Given the description of an element on the screen output the (x, y) to click on. 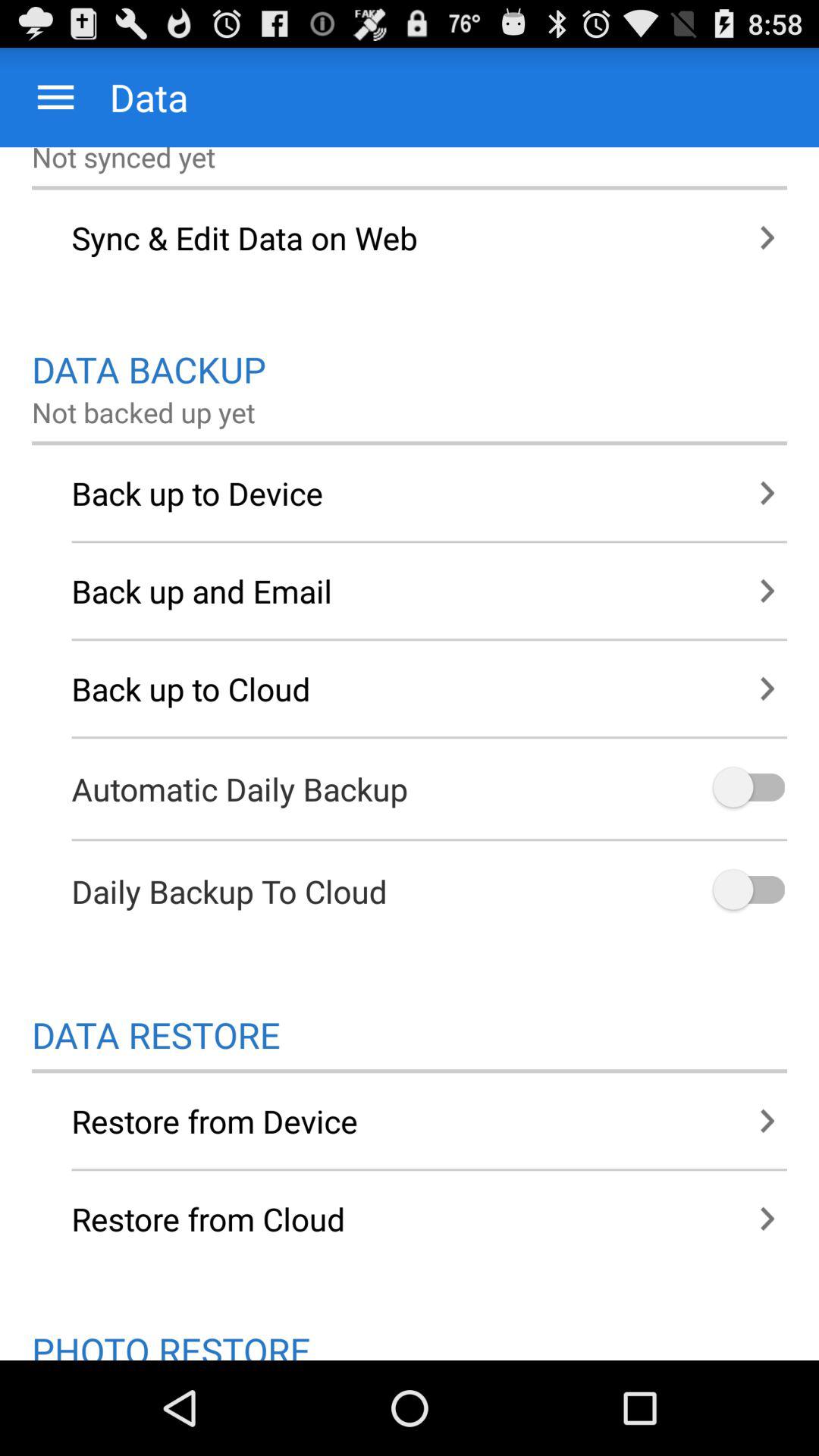
enable daily backup to cloud (747, 891)
